Given the description of an element on the screen output the (x, y) to click on. 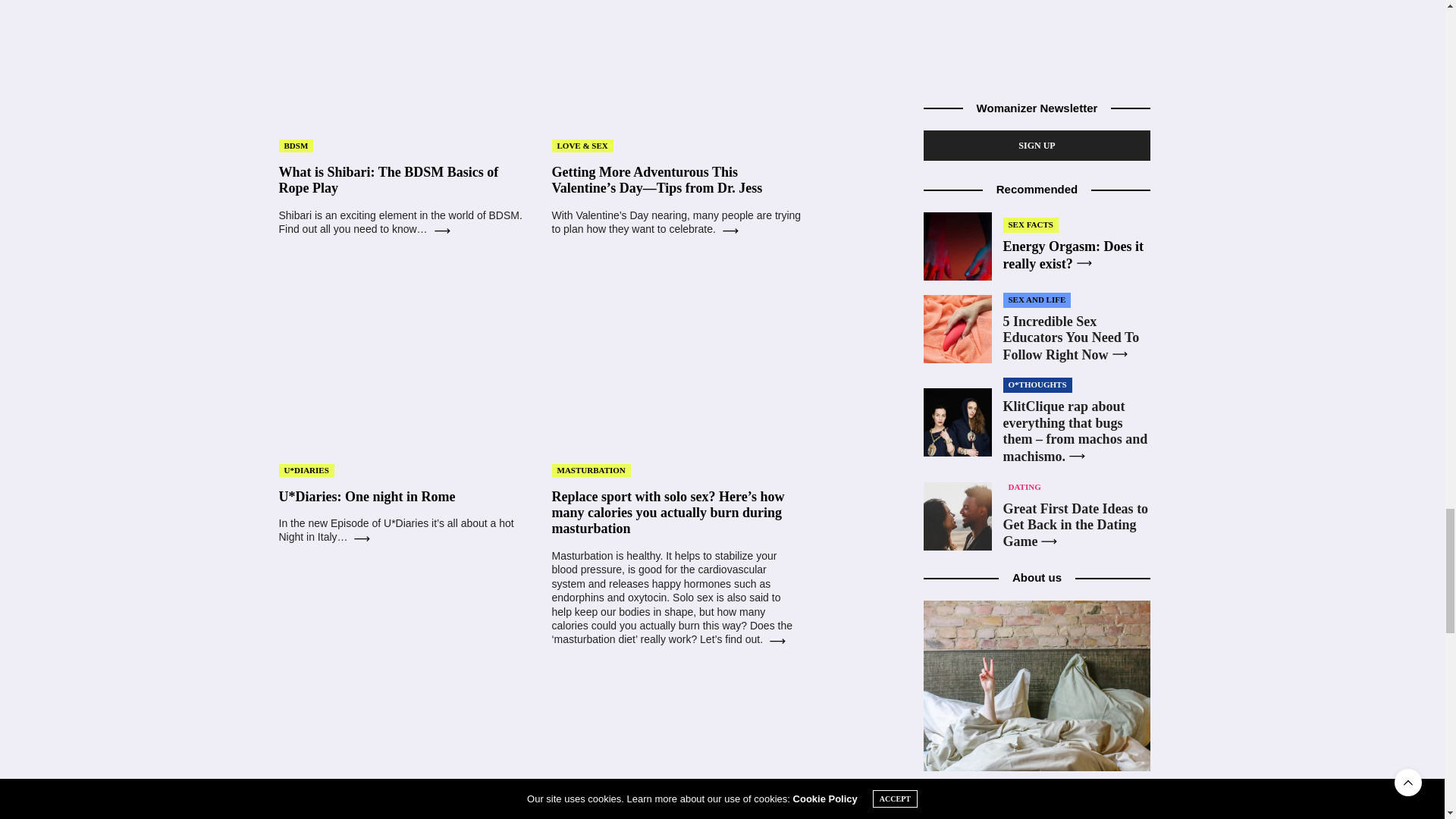
What is Shibari: The BDSM Basics of Rope Play (389, 179)
What is Shibari: The BDSM Basics of Rope Play (404, 62)
